Given the description of an element on the screen output the (x, y) to click on. 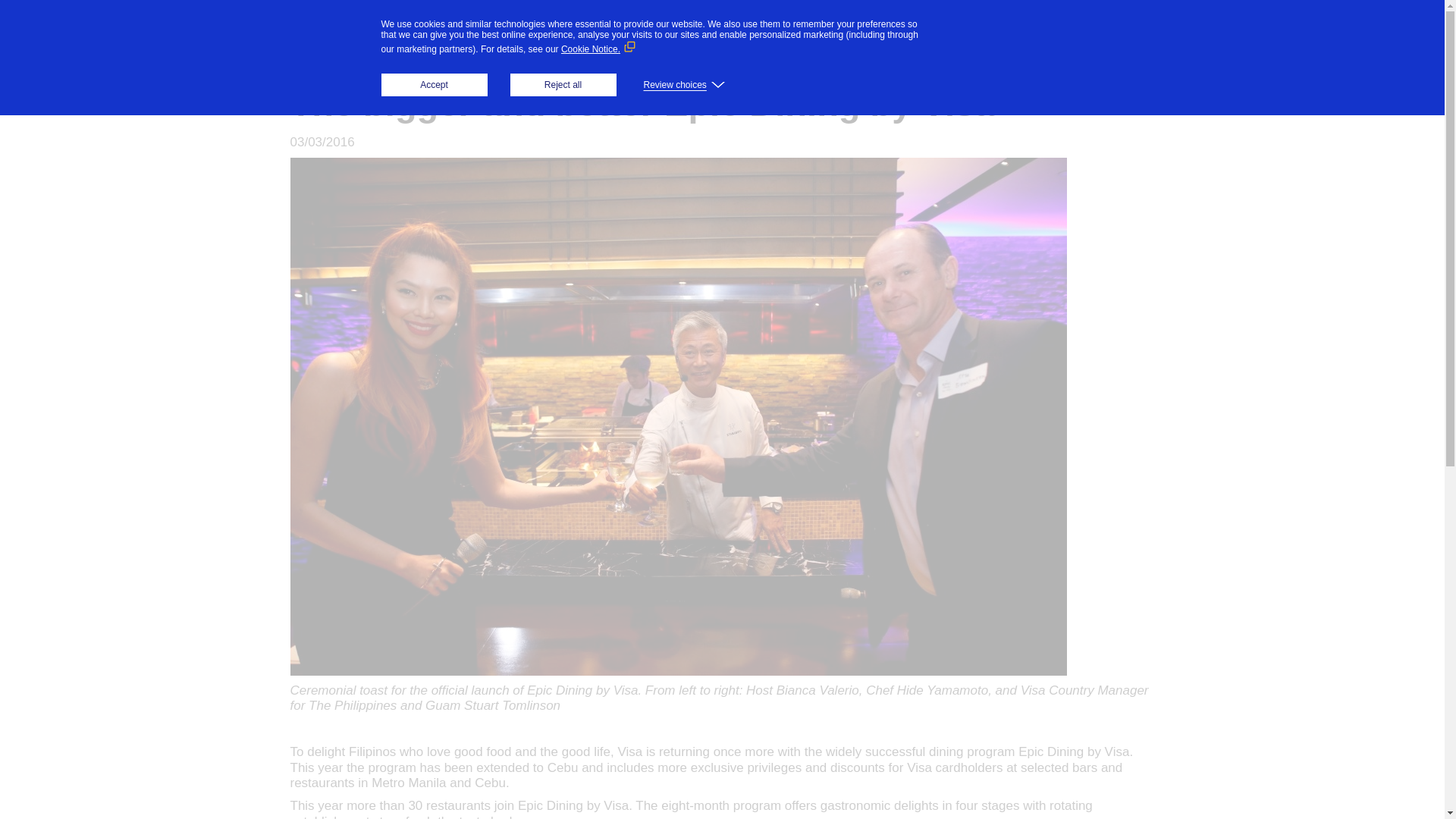
Individuals (558, 41)
